Given the description of an element on the screen output the (x, y) to click on. 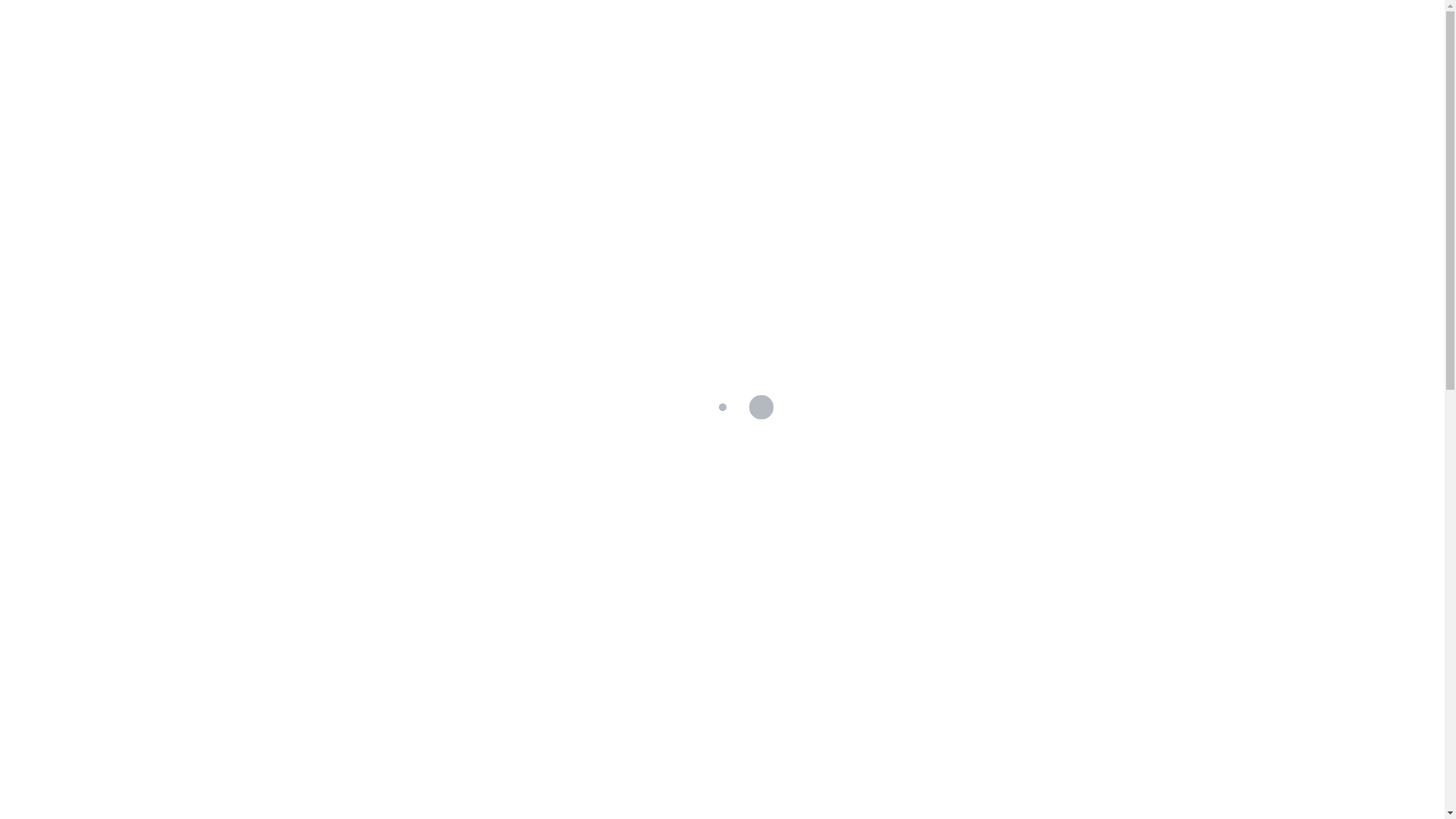
EPOSTERS SOFTWARE PRODUCT FEATURES Element type: text (1012, 516)
Blog Element type: text (903, 30)
Hire Element type: text (960, 30)
Portfolio Element type: text (828, 30)
Contact Element type: text (1029, 30)
News Element type: text (680, 587)
EPOSTER SUBMISSION GUIDELINES Element type: text (1012, 674)
BENEFITS OF USING EPOSTERS VERSUS PRINTED POSTERS Element type: text (518, 621)
Home Element type: text (746, 30)
EPOSTERS DEMO VIDEO Element type: text (1016, 366)
